Given the description of an element on the screen output the (x, y) to click on. 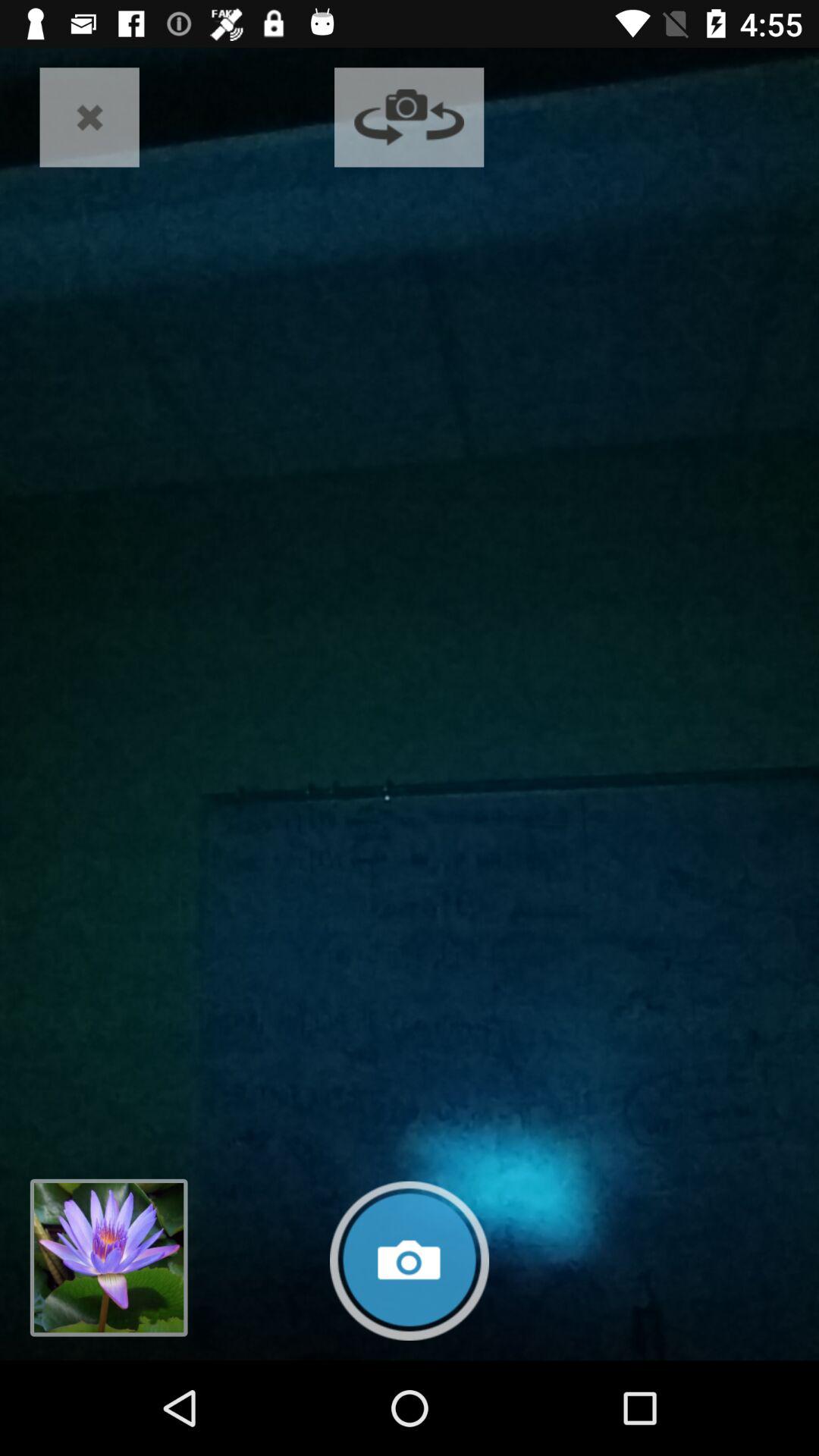
delete this photo (89, 117)
